Given the description of an element on the screen output the (x, y) to click on. 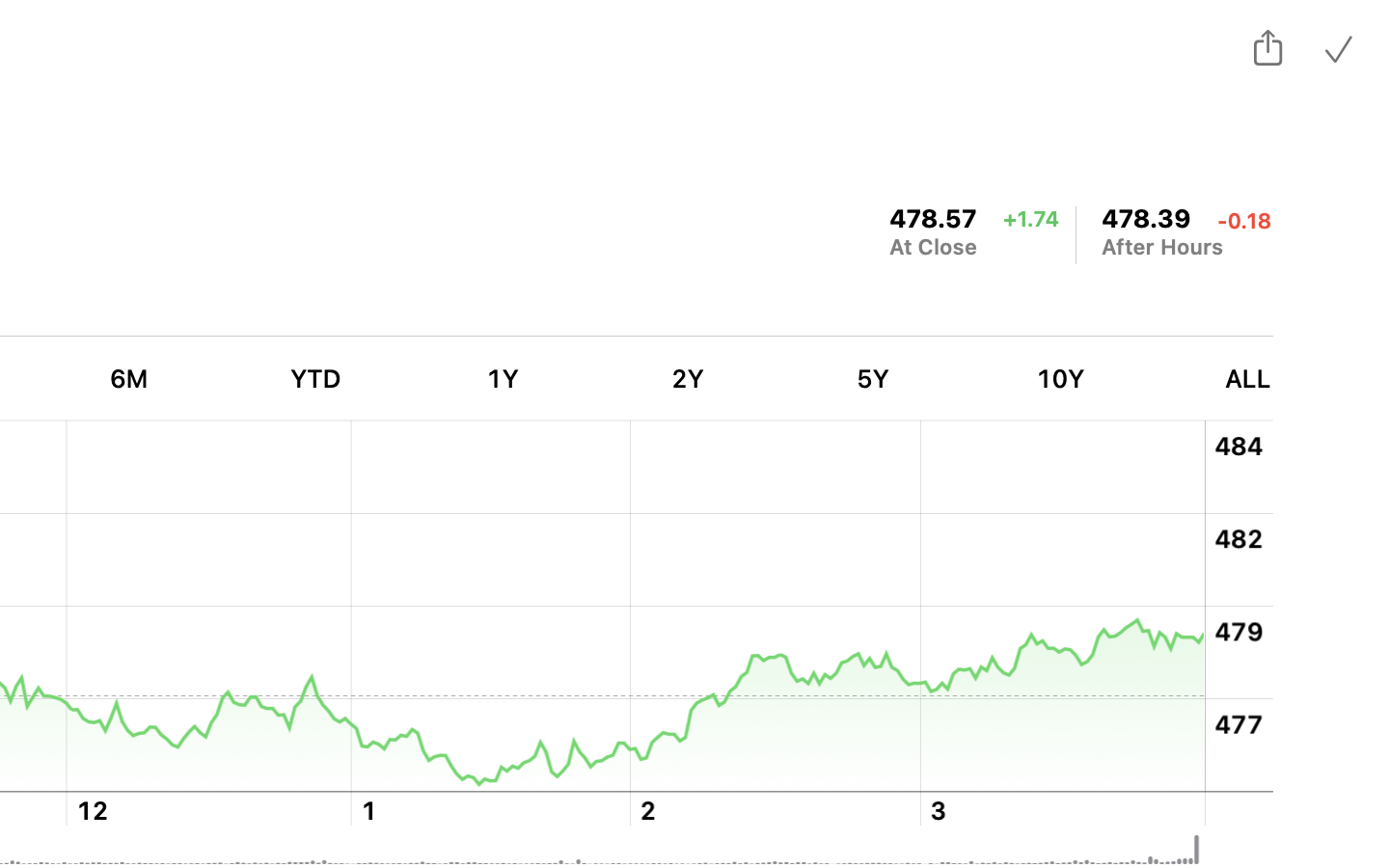
478.39, change, down 0.18 points Element type: AXStaticText (1146, 217)
478.57, change, up 1.74 points Element type: AXStaticText (933, 217)
